Given the description of an element on the screen output the (x, y) to click on. 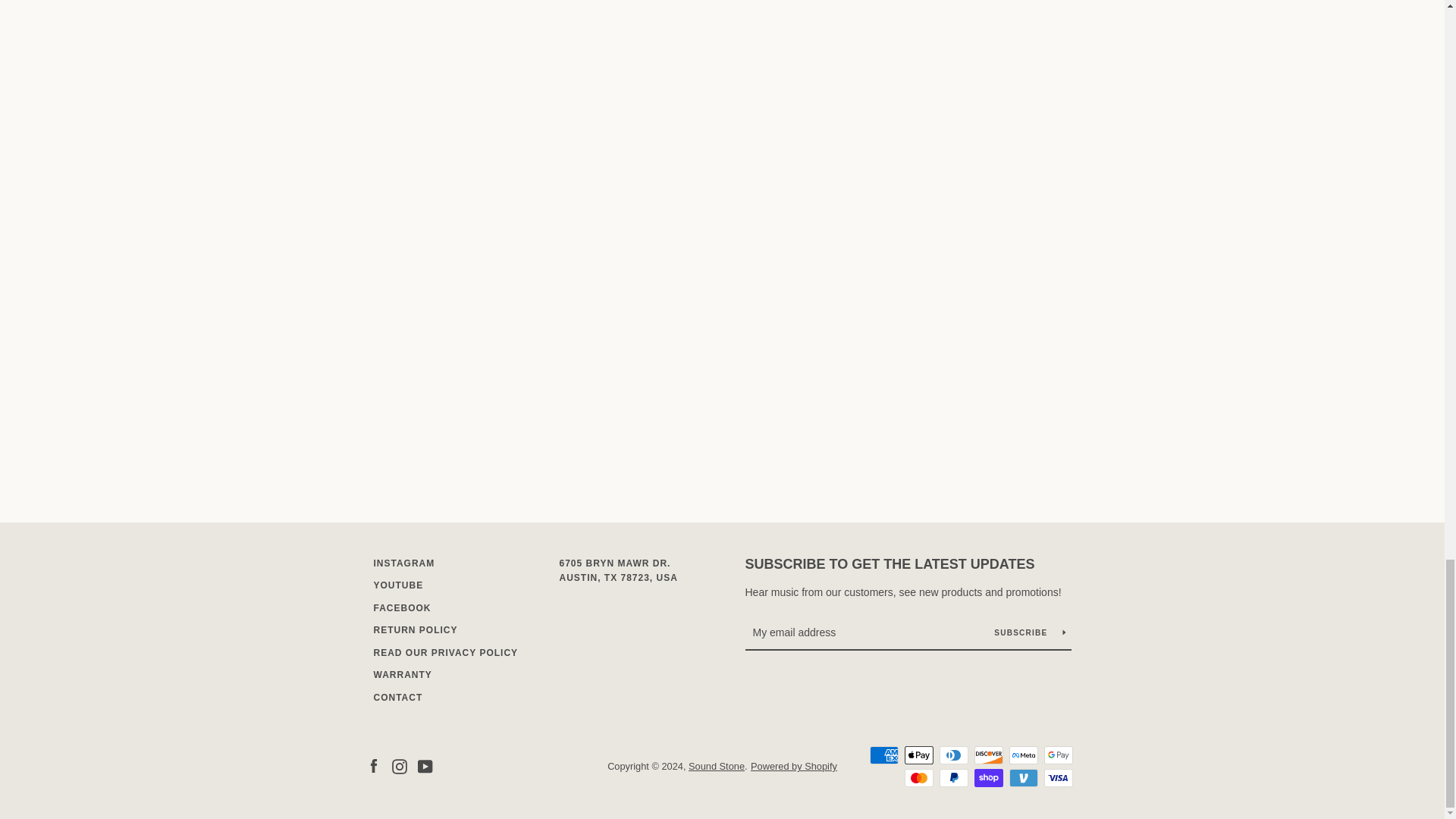
Sound Stone on Instagram (399, 765)
Sound Stone on YouTube (424, 765)
PayPal (953, 778)
Visa (1057, 778)
Apple Pay (918, 755)
Shop Pay (988, 778)
Discover (988, 755)
Diners Club (953, 755)
Mastercard (918, 778)
Meta Pay (1022, 755)
